Given the description of an element on the screen output the (x, y) to click on. 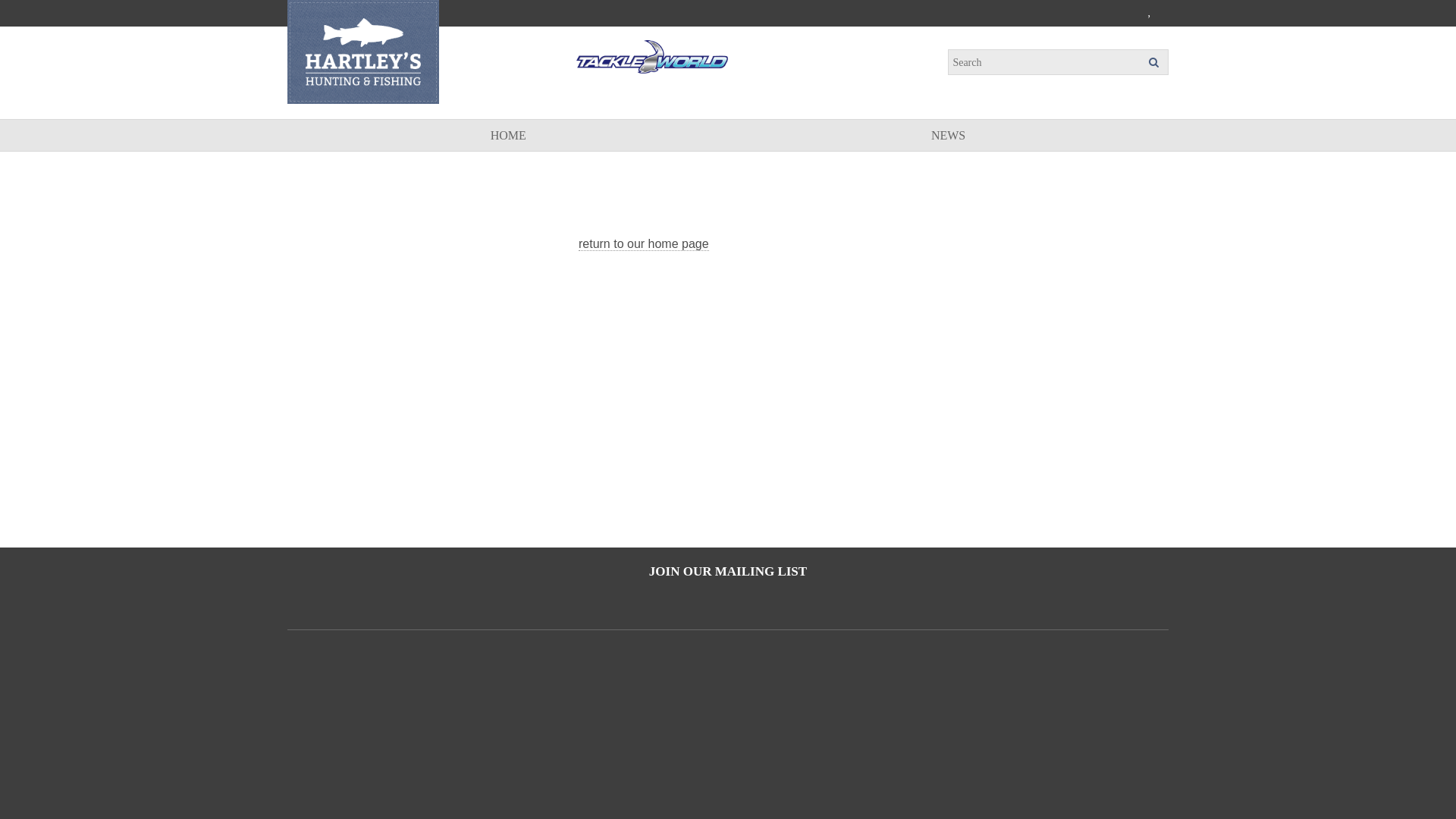
return to our home page Element type: text (643, 244)
Search for: Element type: hover (1057, 62)
HOME Element type: text (508, 134)
NEWS Element type: text (947, 134)
